Given the description of an element on the screen output the (x, y) to click on. 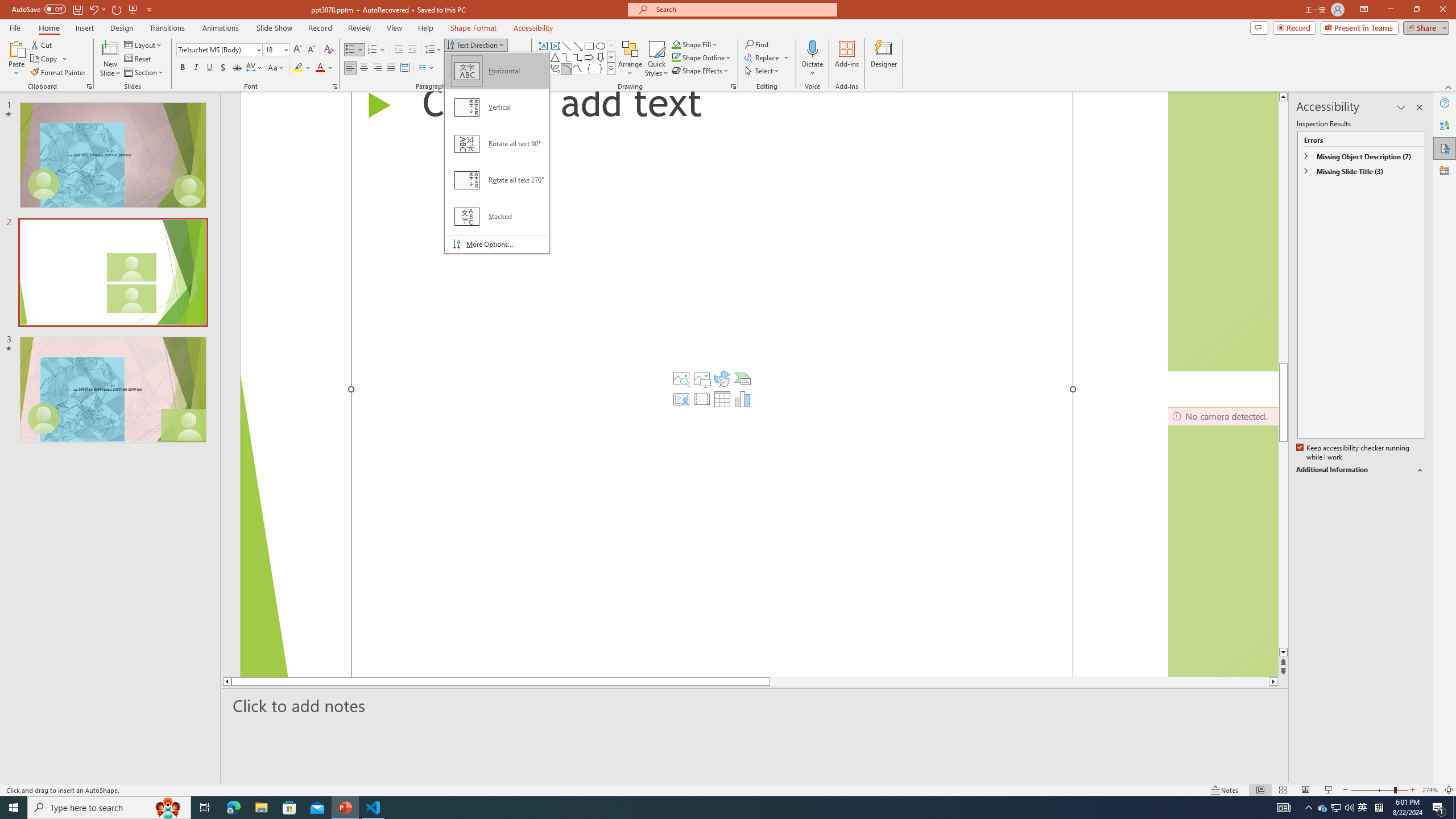
Microsoft Edge (233, 807)
